Given the description of an element on the screen output the (x, y) to click on. 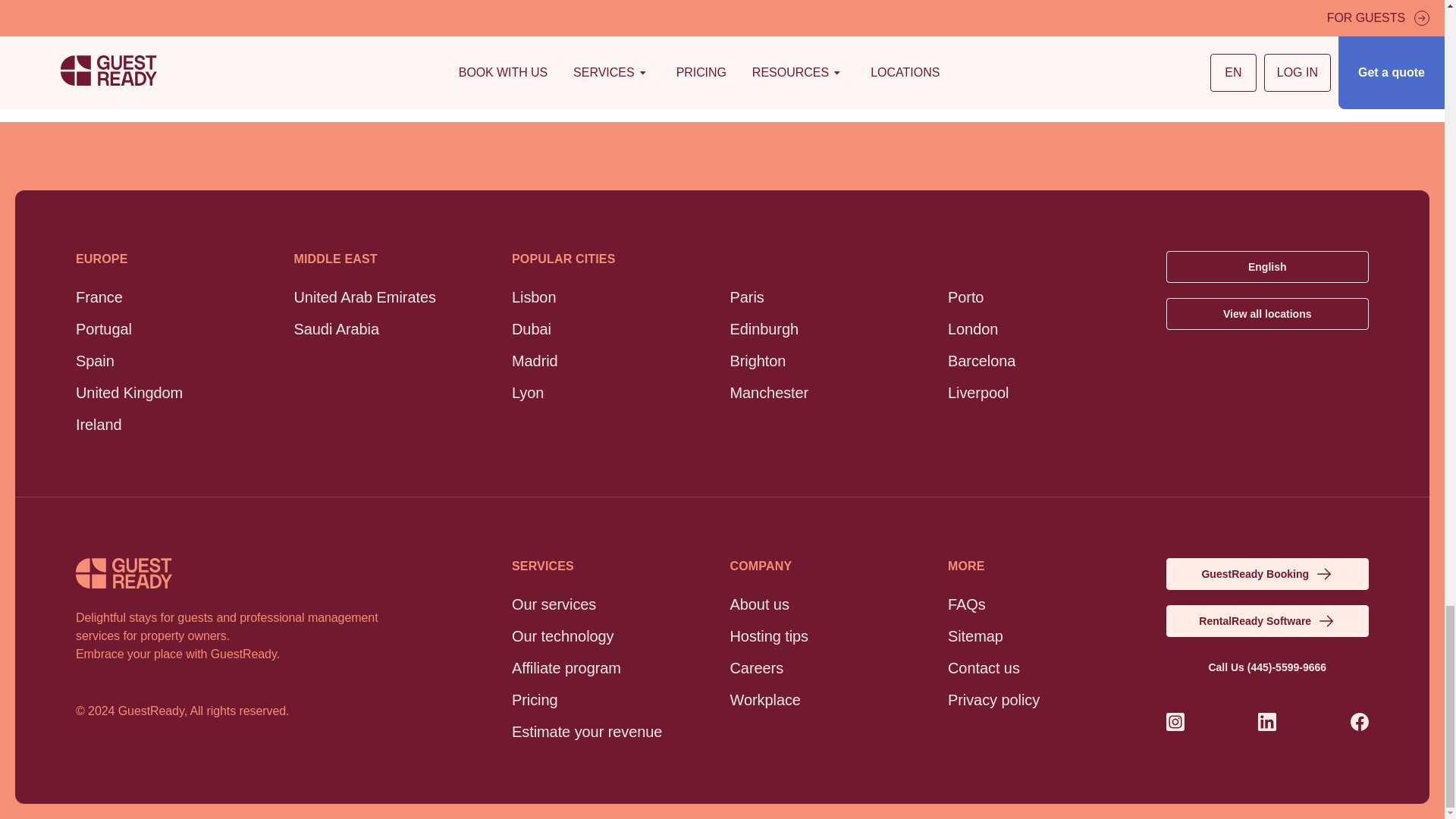
RentalReady Software (1268, 621)
GuestReady booking website (1268, 573)
